Given the description of an element on the screen output the (x, y) to click on. 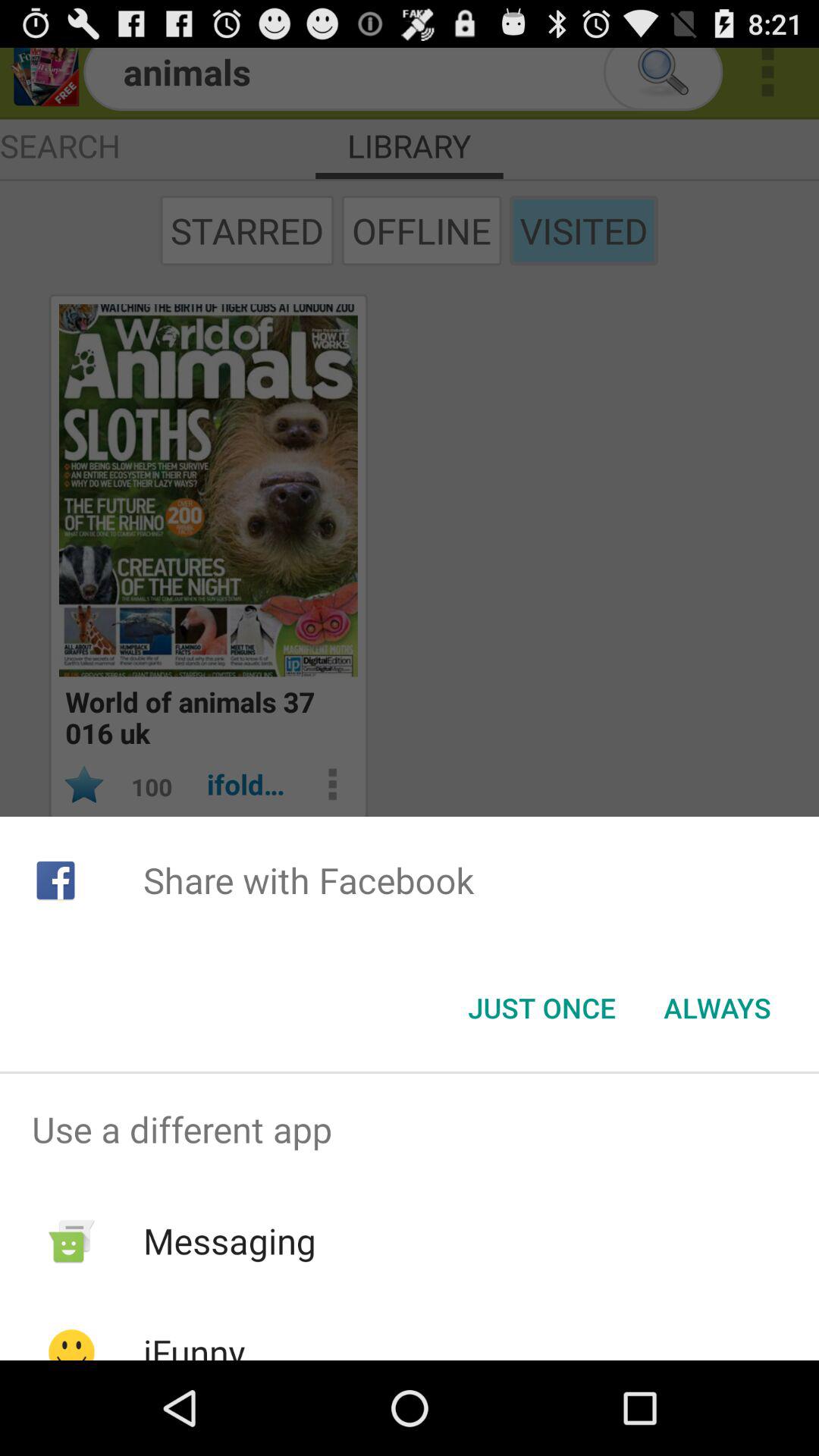
tap the item below the share with facebook (541, 1007)
